Given the description of an element on the screen output the (x, y) to click on. 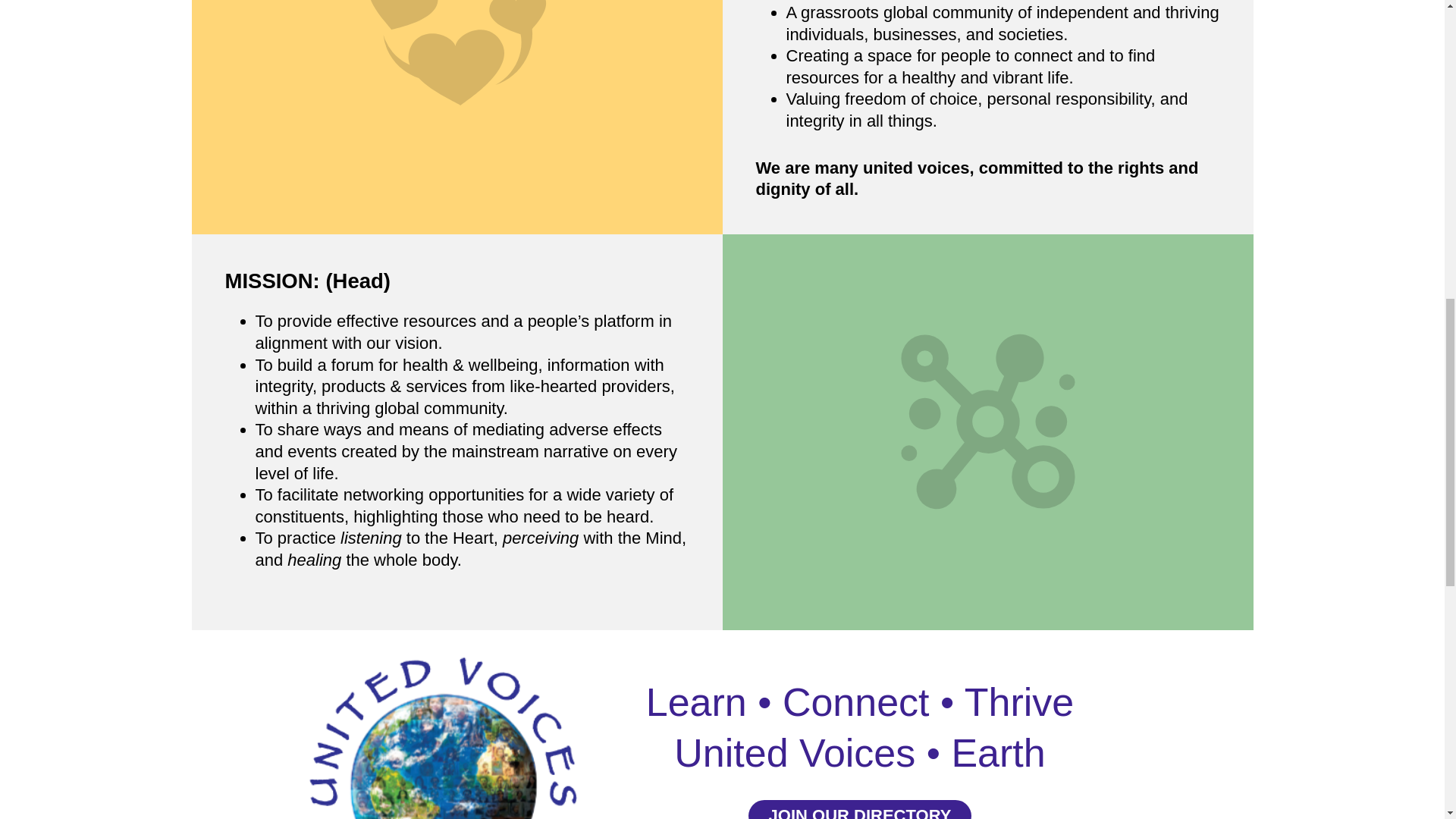
JOIN OUR DIRECTORY (859, 809)
